Given the description of an element on the screen output the (x, y) to click on. 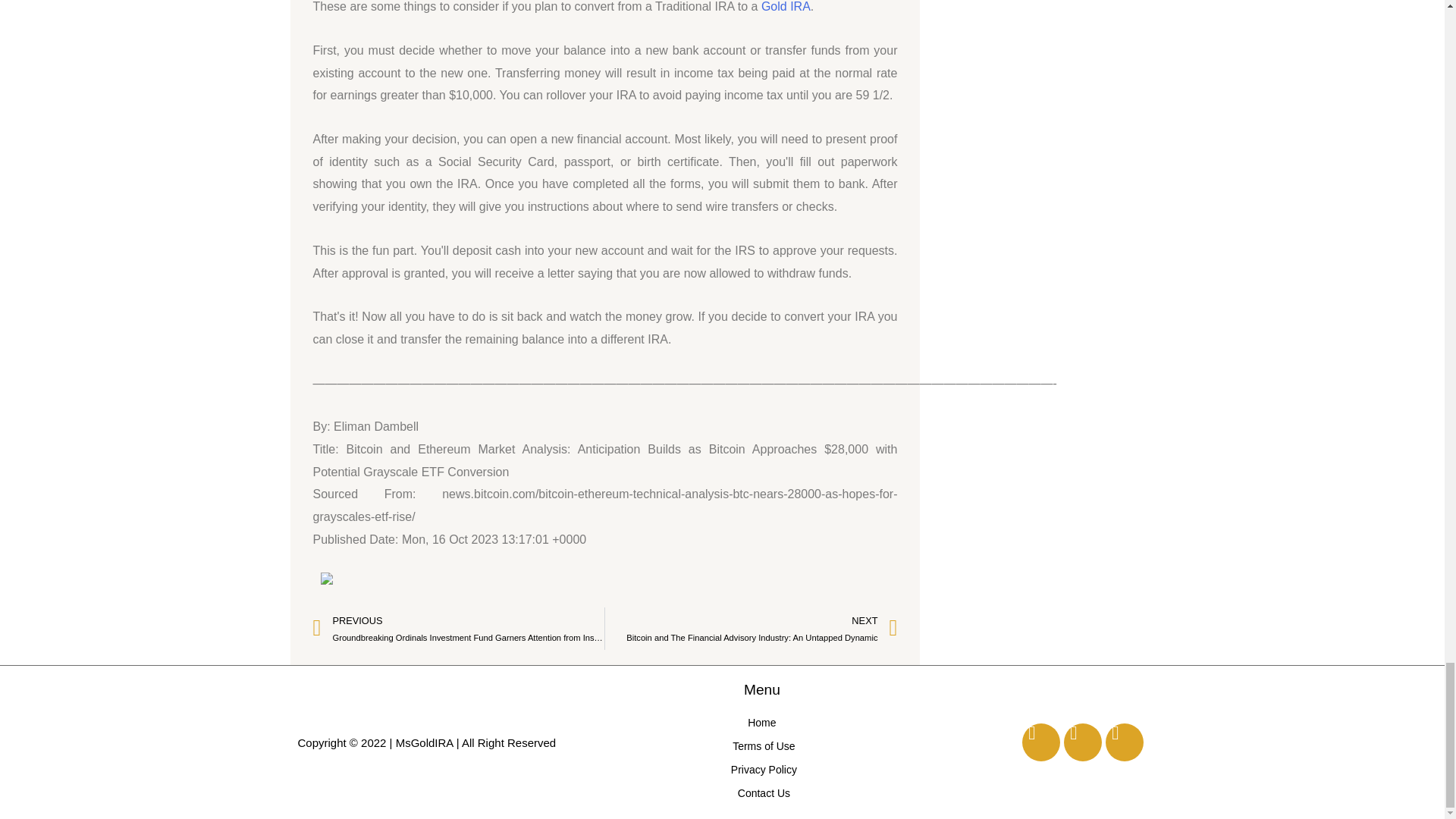
Gold IRA (785, 6)
